Given the description of an element on the screen output the (x, y) to click on. 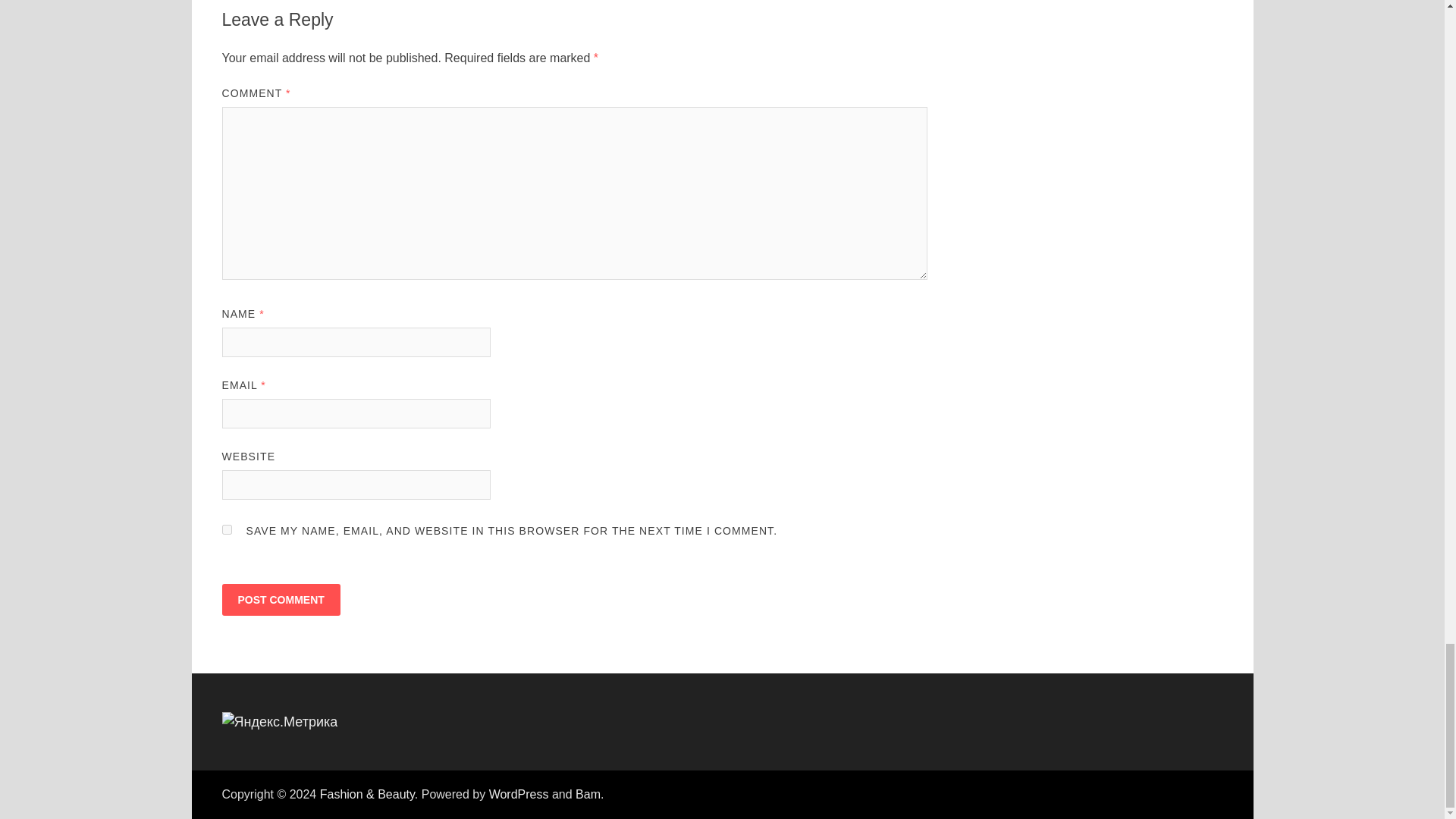
yes (226, 529)
WordPress (518, 793)
Post Comment (280, 599)
Bam (587, 793)
Post Comment (280, 599)
